Given the description of an element on the screen output the (x, y) to click on. 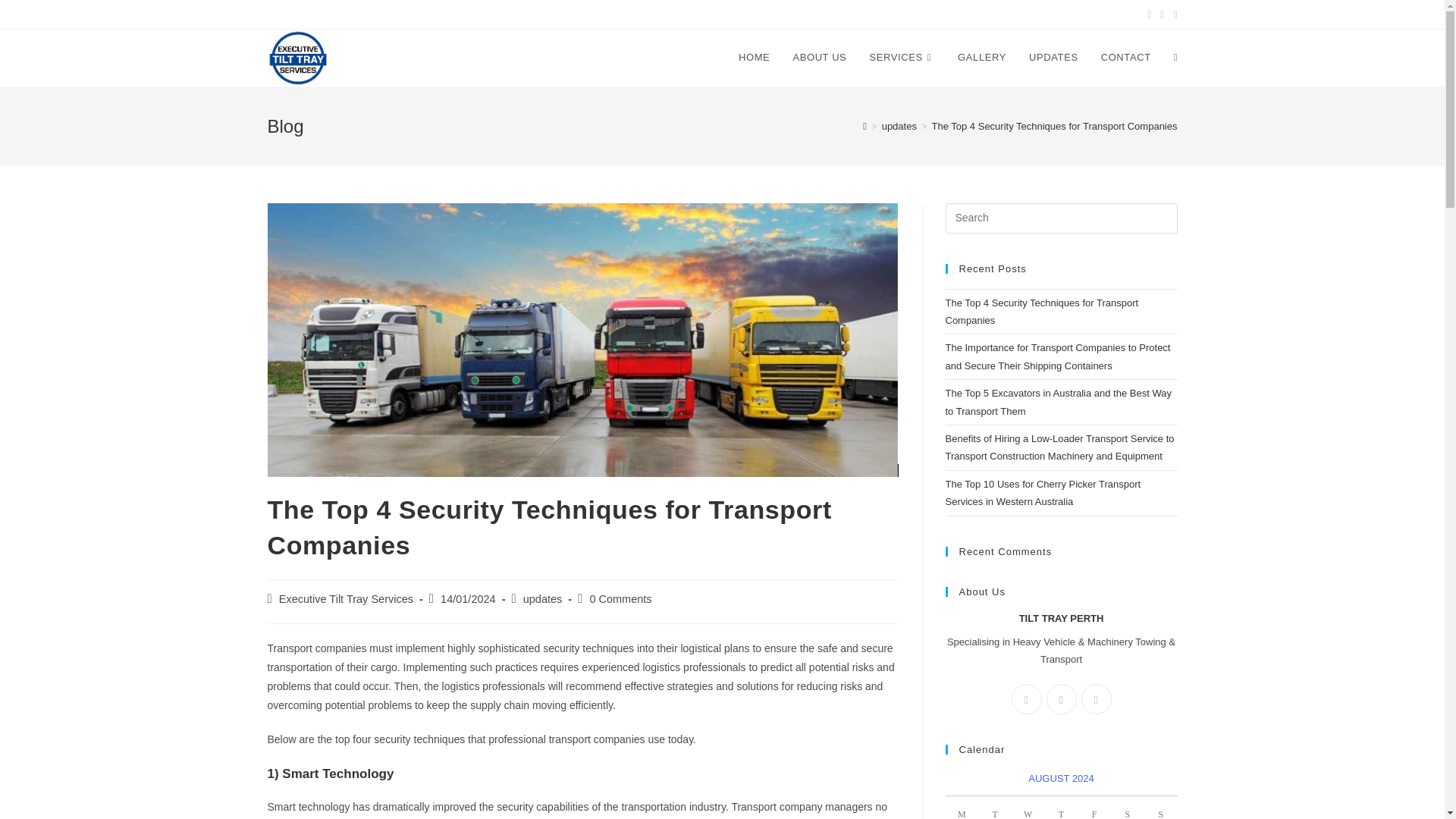
ABOUT US (818, 57)
UPDATES (1053, 57)
Thursday (1061, 807)
Posts by Executive Tilt Tray Services (346, 598)
Sunday (1160, 807)
Tuesday (994, 807)
Saturday (1127, 807)
SERVICES (901, 57)
HOME (753, 57)
Executive Tilt Tray Services (346, 598)
updates (899, 125)
Friday (1093, 807)
The Top 4 Security Techniques for Transport Companies (1054, 125)
Wednesday (1028, 807)
GALLERY (981, 57)
